Given the description of an element on the screen output the (x, y) to click on. 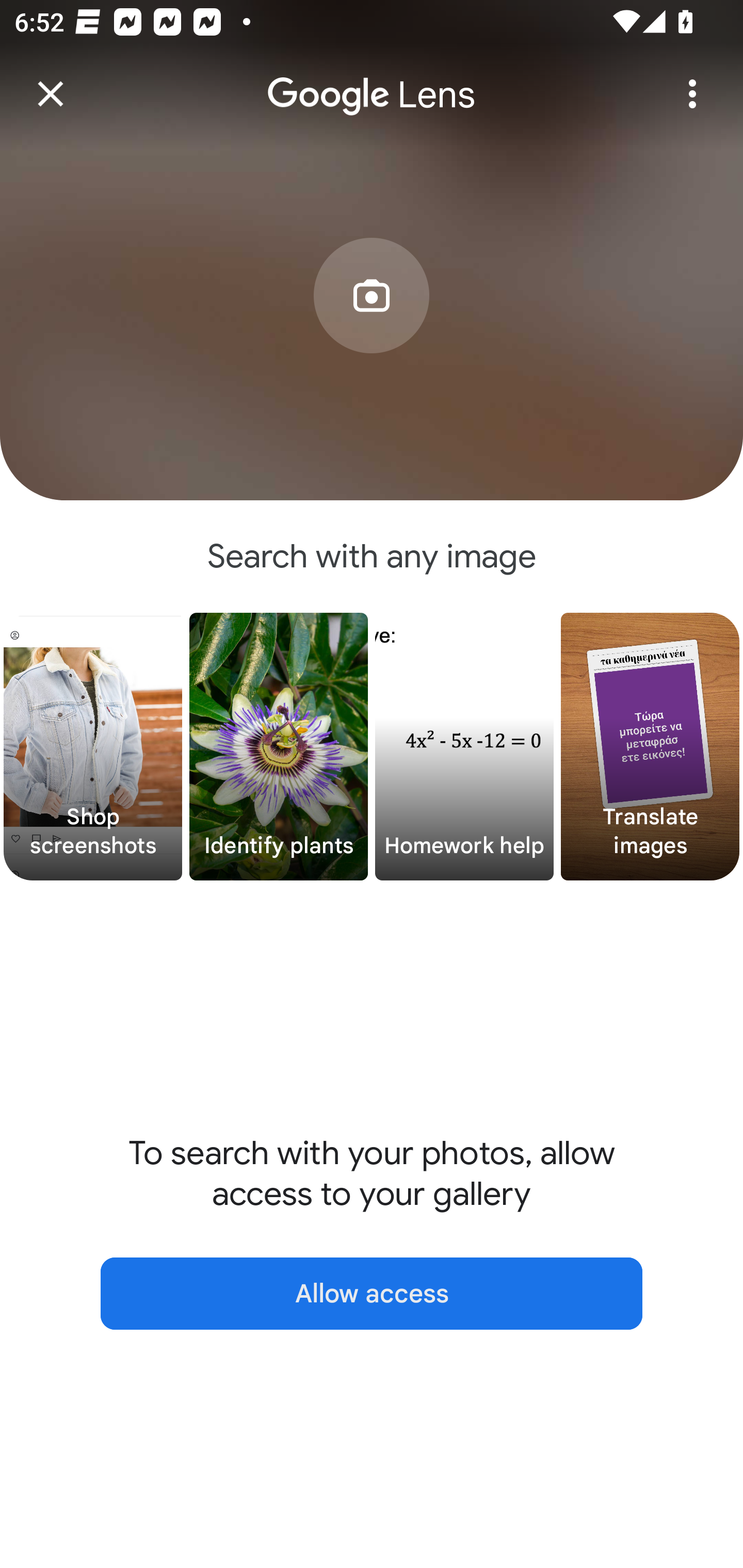
Google Lens Lens (371, 80)
Close (50, 94)
More options (692, 94)
Search with your camera (371, 326)
Shop screenshots (92, 747)
Identify plants (278, 747)
Homework help (464, 747)
Translate images (649, 747)
Allow access (371, 1293)
